Given the description of an element on the screen output the (x, y) to click on. 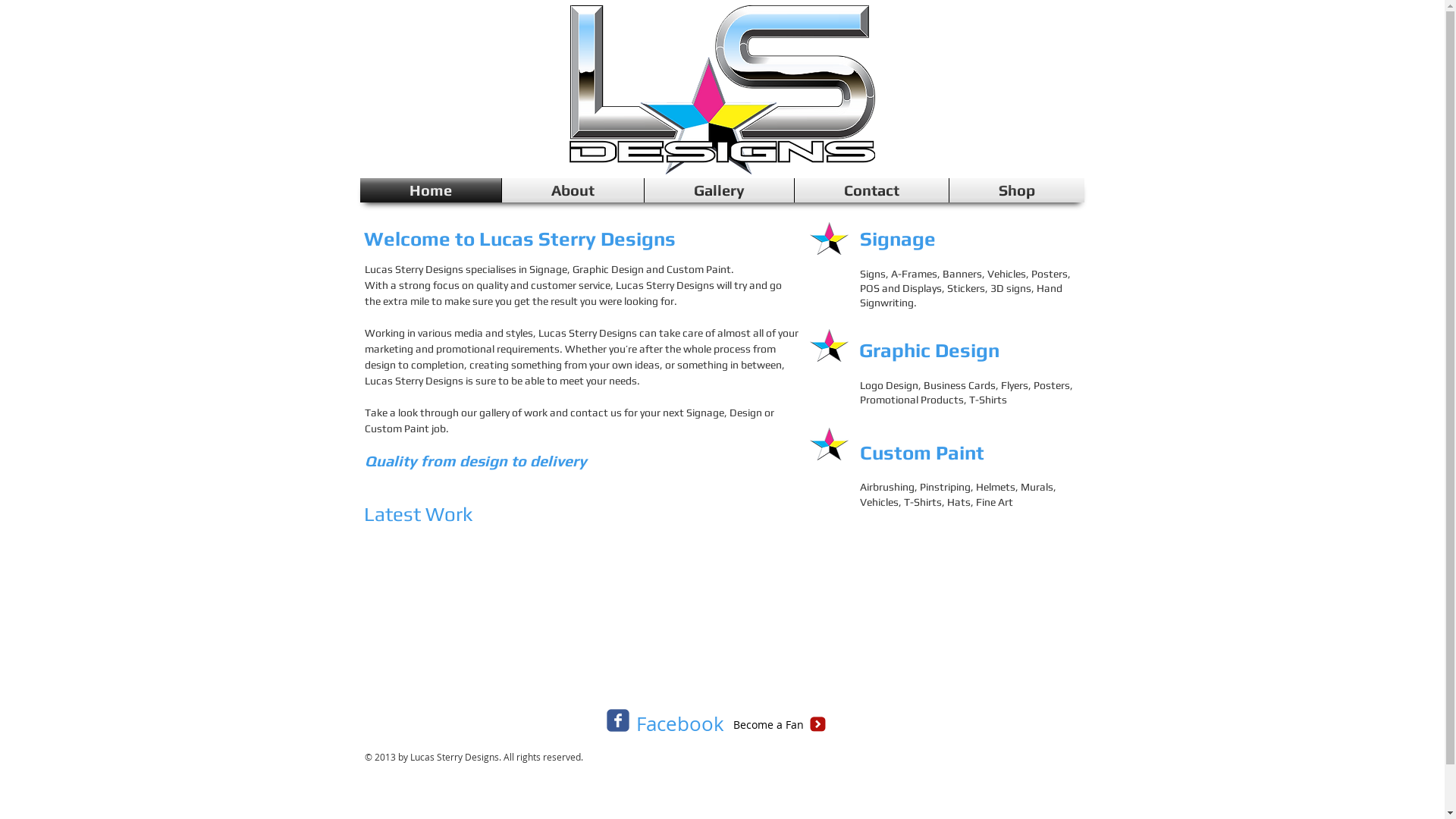
Lucas Sterry Designs Logo.png Element type: hover (721, 89)
Star.png Element type: hover (828, 443)
Star.png Element type: hover (828, 238)
Become a Fan Element type: text (767, 724)
About Element type: text (572, 190)
Shop Element type: text (1016, 190)
Gallery Element type: text (718, 190)
Home Element type: text (429, 190)
Contact Element type: text (871, 190)
Star.png Element type: hover (828, 345)
Facebook Element type: text (679, 724)
